Given the description of an element on the screen output the (x, y) to click on. 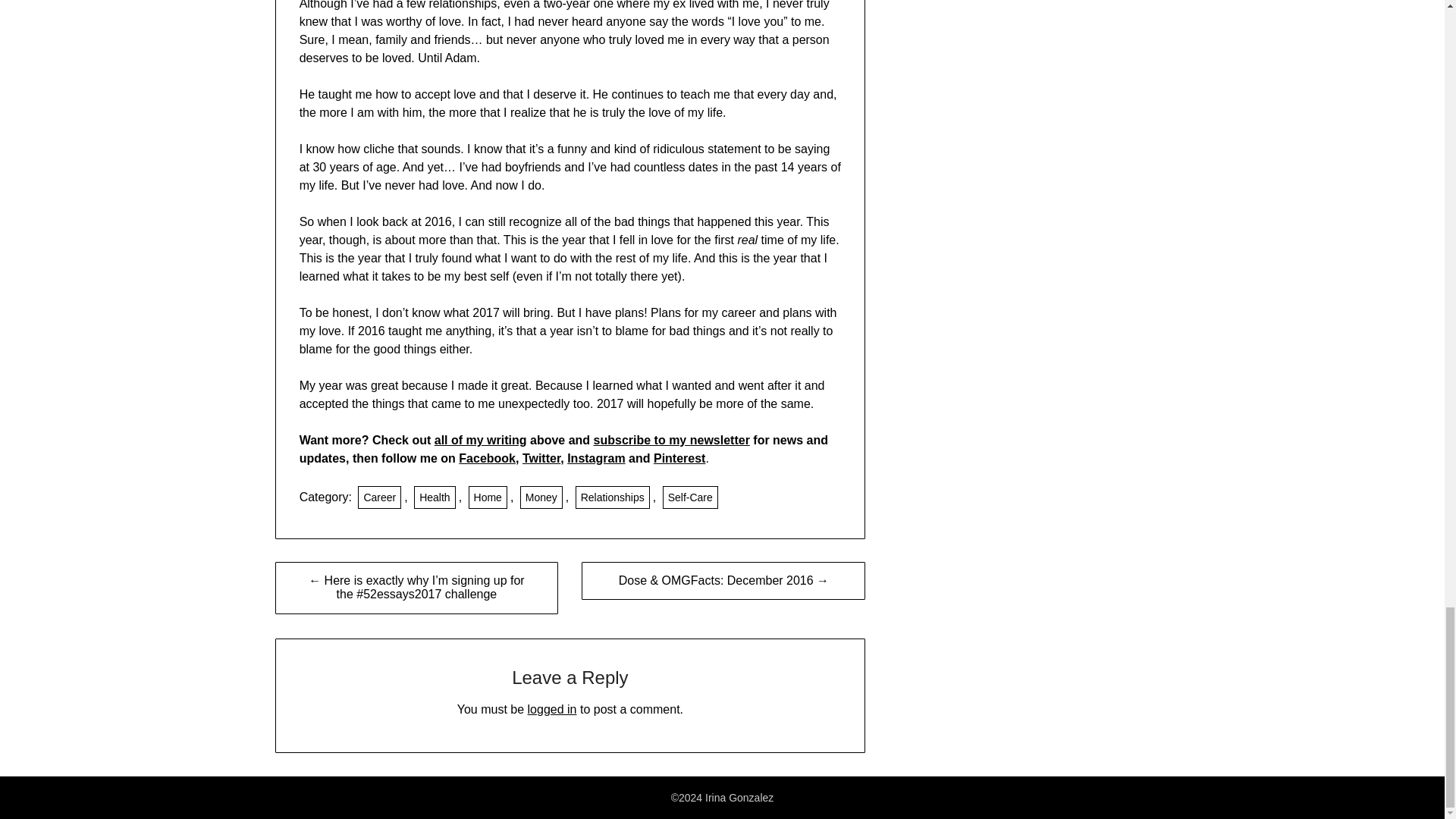
Health (433, 497)
Career (379, 497)
subscribe to my newsletter (671, 440)
Twitter (541, 458)
Pinterest (678, 458)
Home (487, 497)
logged in (551, 708)
Instagram (595, 458)
Facebook (486, 458)
Money (540, 497)
Relationships (612, 497)
Self-Care (689, 497)
all of my writing (480, 440)
